Given the description of an element on the screen output the (x, y) to click on. 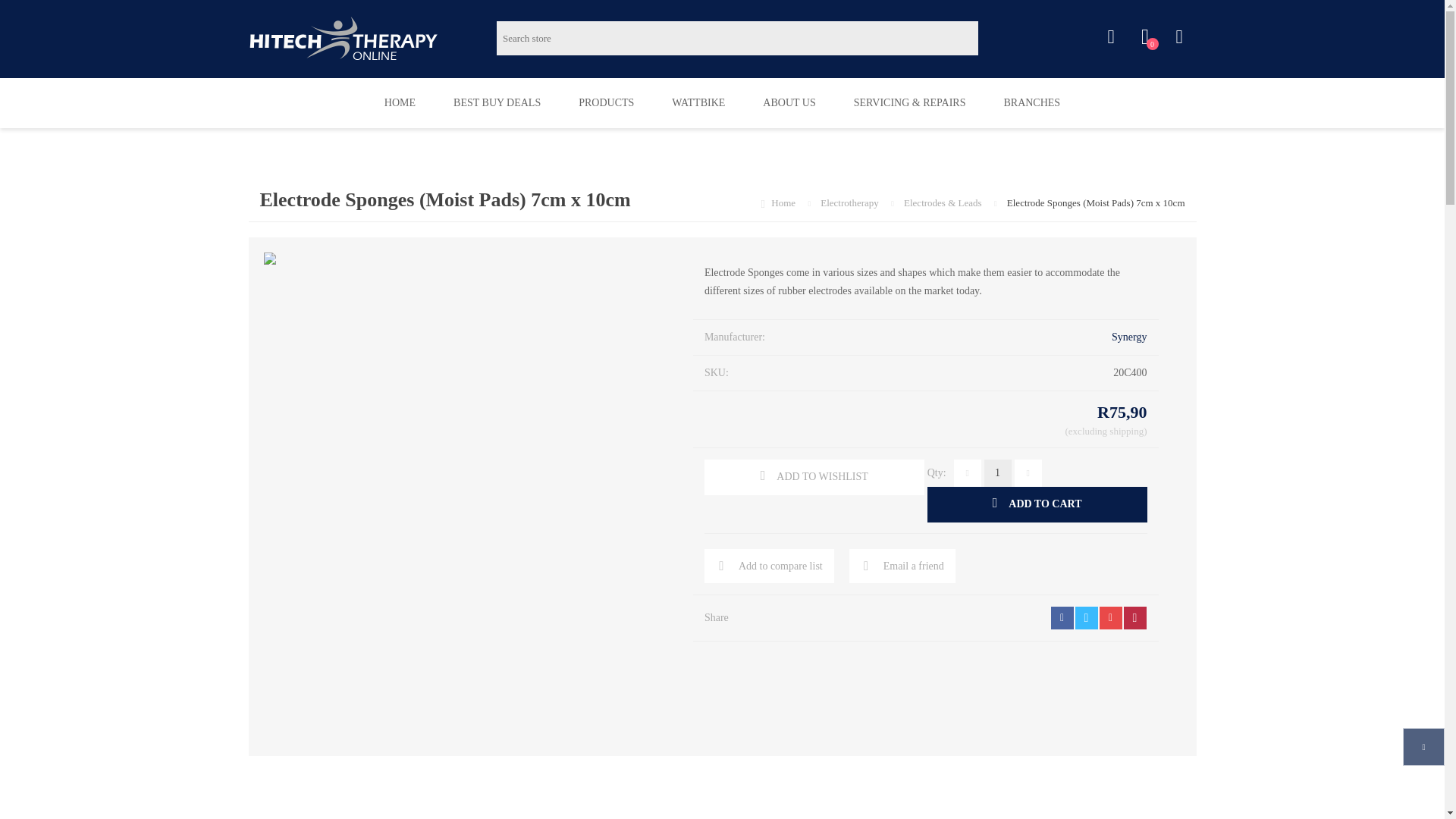
WATTBIKE (698, 102)
Electrotherapy (850, 202)
Shopping cart (1178, 37)
ABOUT US (789, 102)
BRANCHES (1031, 102)
Branches (1031, 102)
Home (784, 202)
HOME (399, 102)
BEST BUY DEALS (496, 102)
PRODUCTS (605, 102)
